Given the description of an element on the screen output the (x, y) to click on. 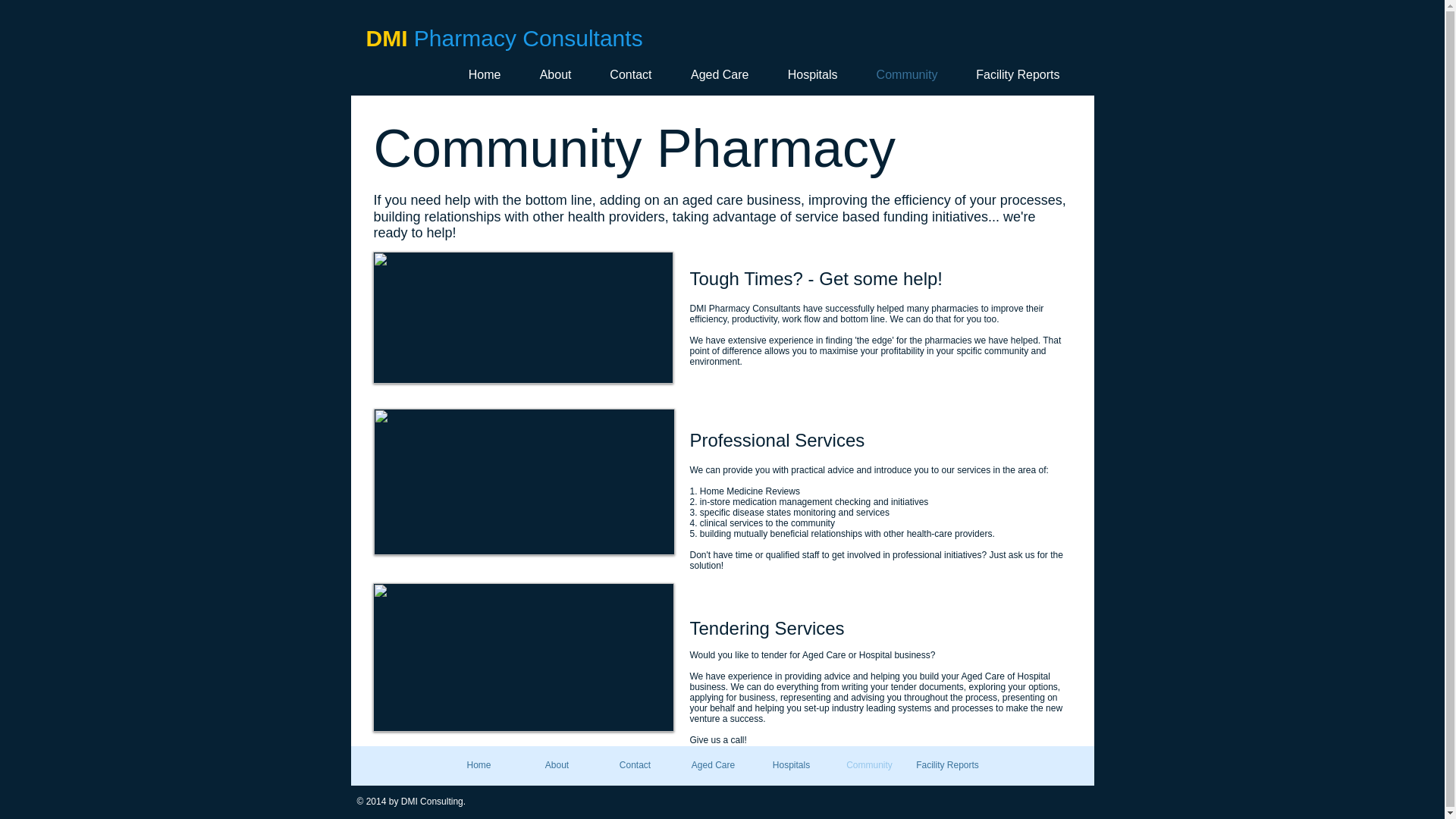
Contact (634, 764)
About (550, 74)
Facility Reports (1013, 74)
Hospitals (790, 764)
Community (868, 764)
Home (478, 764)
Aged Care (715, 74)
About (556, 764)
Aged Care (713, 764)
Contact (626, 74)
Hospitals (808, 74)
Home (479, 74)
Community (901, 74)
Facility Reports (947, 764)
